Given the description of an element on the screen output the (x, y) to click on. 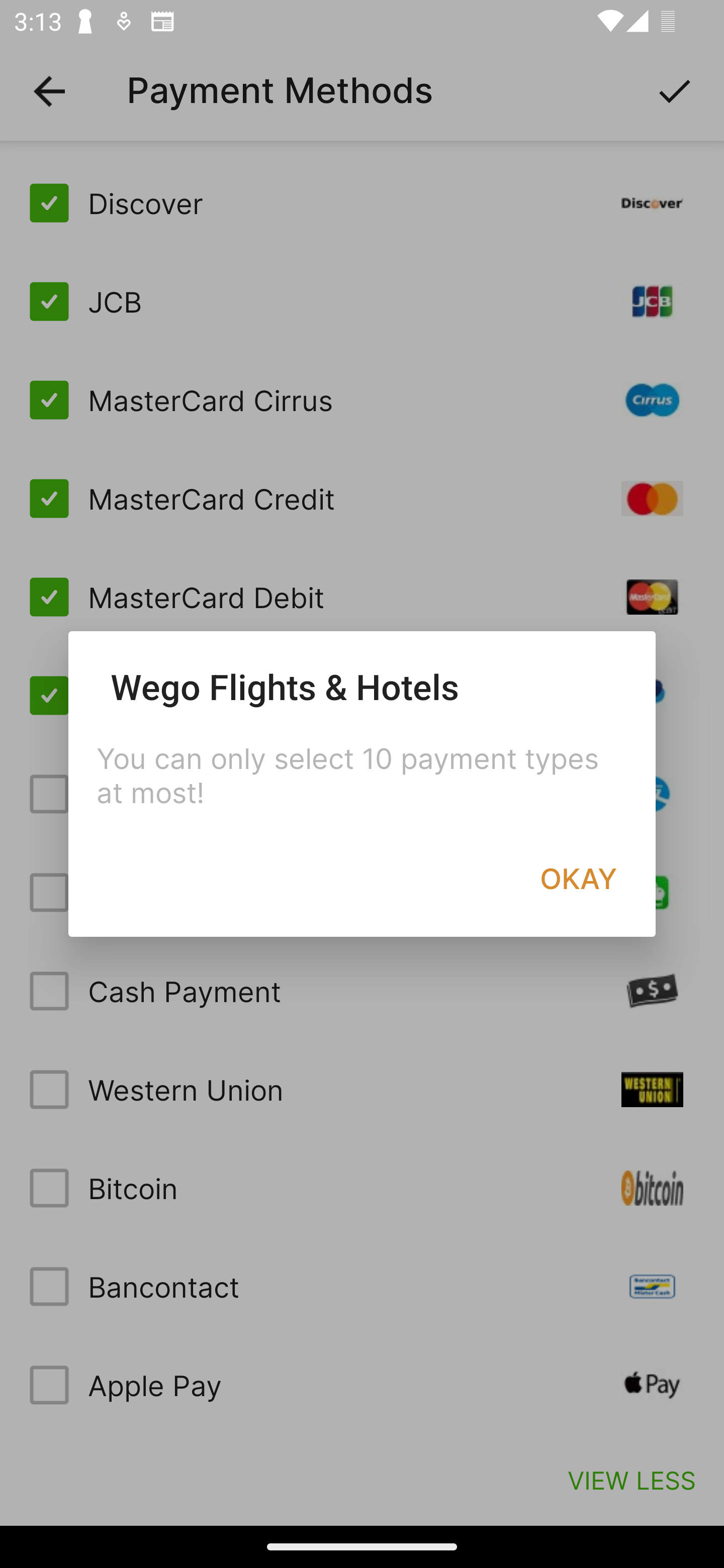
OKAY (578, 877)
